Given the description of an element on the screen output the (x, y) to click on. 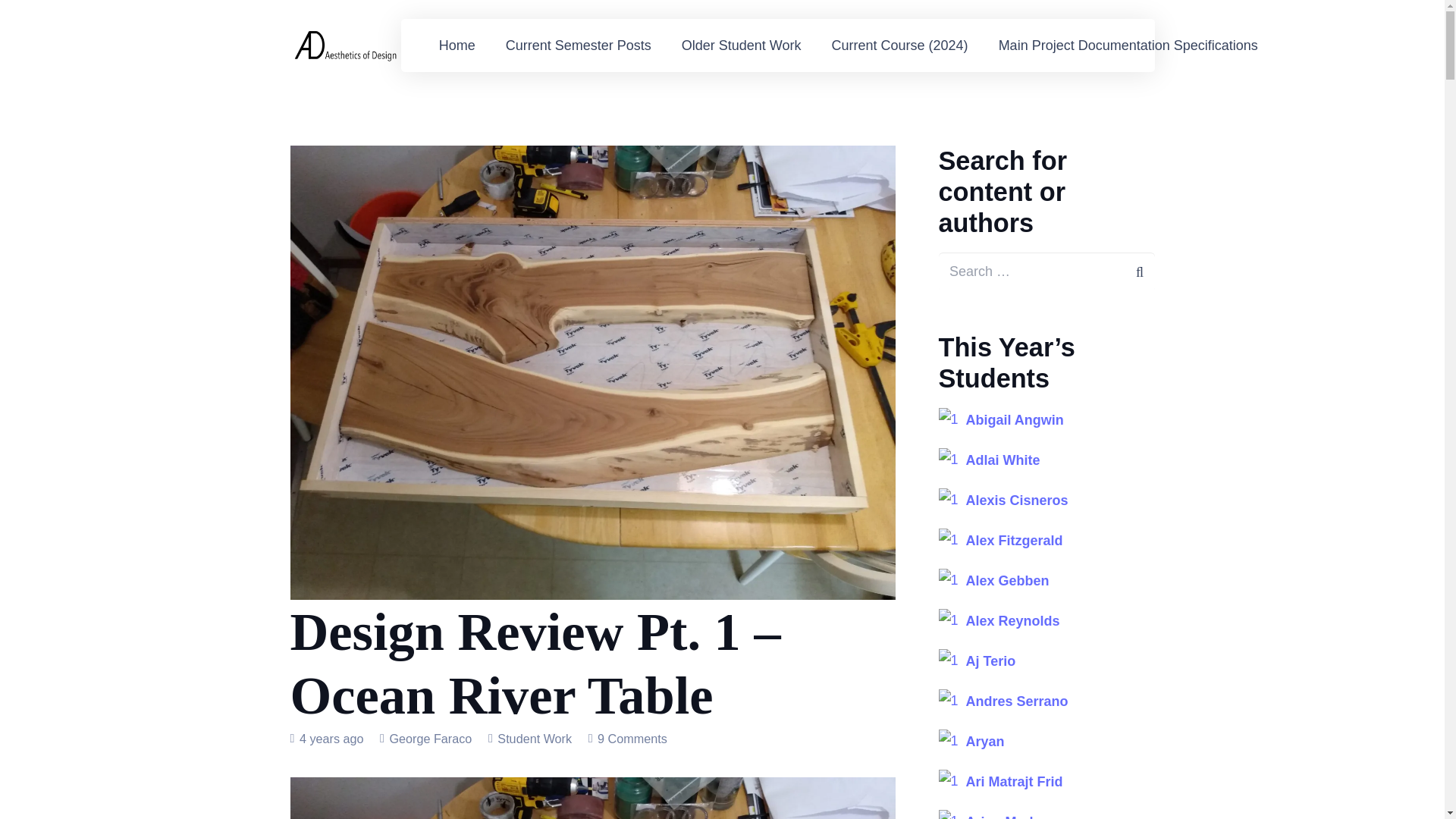
Older Student Work (741, 45)
Home (456, 45)
Current Semester Posts (578, 45)
9 Comments (631, 738)
